Given the description of an element on the screen output the (x, y) to click on. 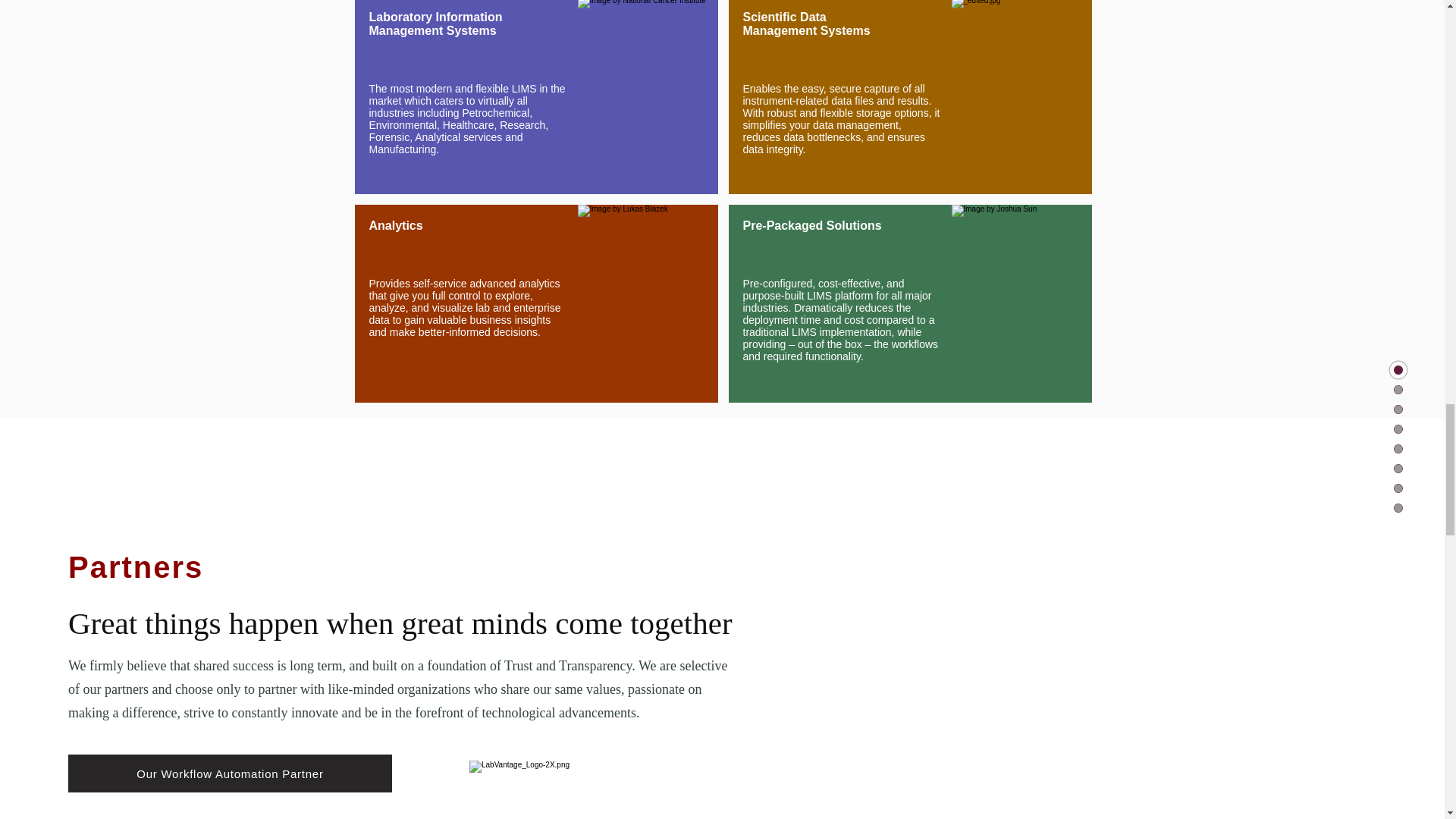
Our Workflow Automation Partner (229, 773)
